Given the description of an element on the screen output the (x, y) to click on. 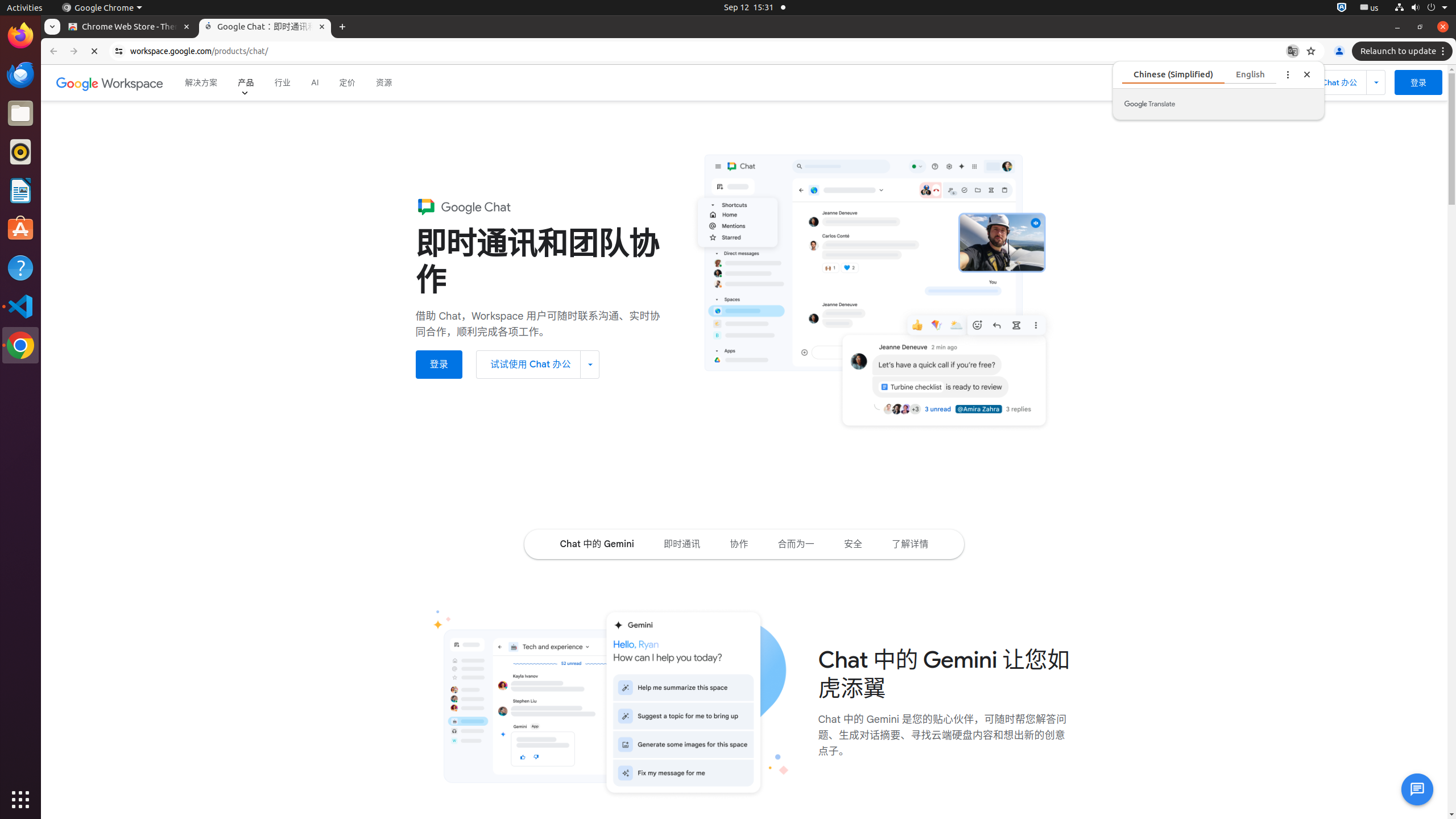
Visual Studio Code Element type: push-button (20, 306)
Bookmark this tab Element type: push-button (1310, 51)
:1.21/StatusNotifierItem Element type: menu (1369, 7)
New Tab Element type: push-button (342, 26)
Reload Element type: push-button (94, 50)
